Given the description of an element on the screen output the (x, y) to click on. 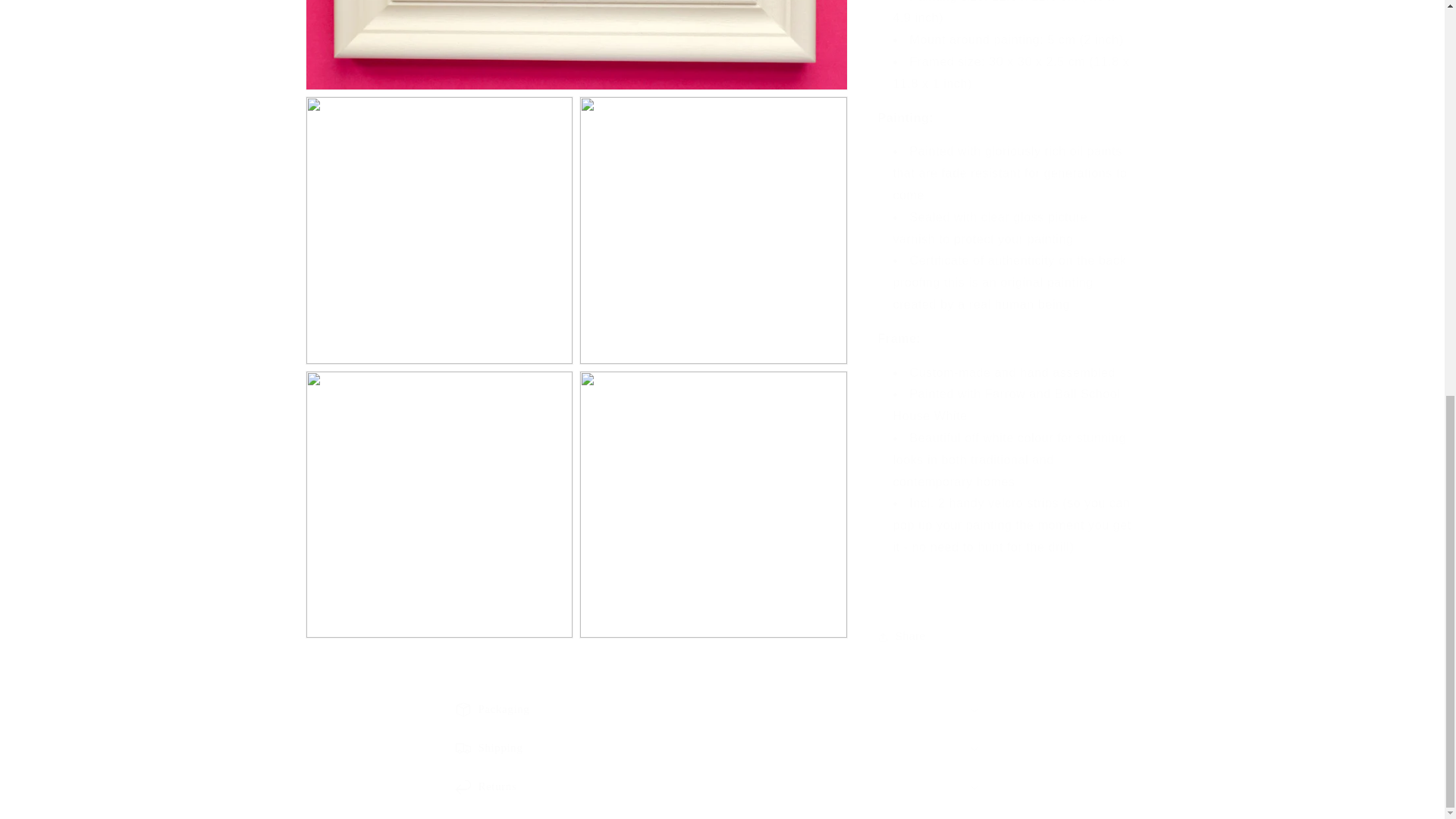
Open media 2 in modal (721, 748)
Open media 3 in modal (438, 75)
Open media 5 in modal (713, 75)
Open media 4 in modal (713, 291)
